Given the description of an element on the screen output the (x, y) to click on. 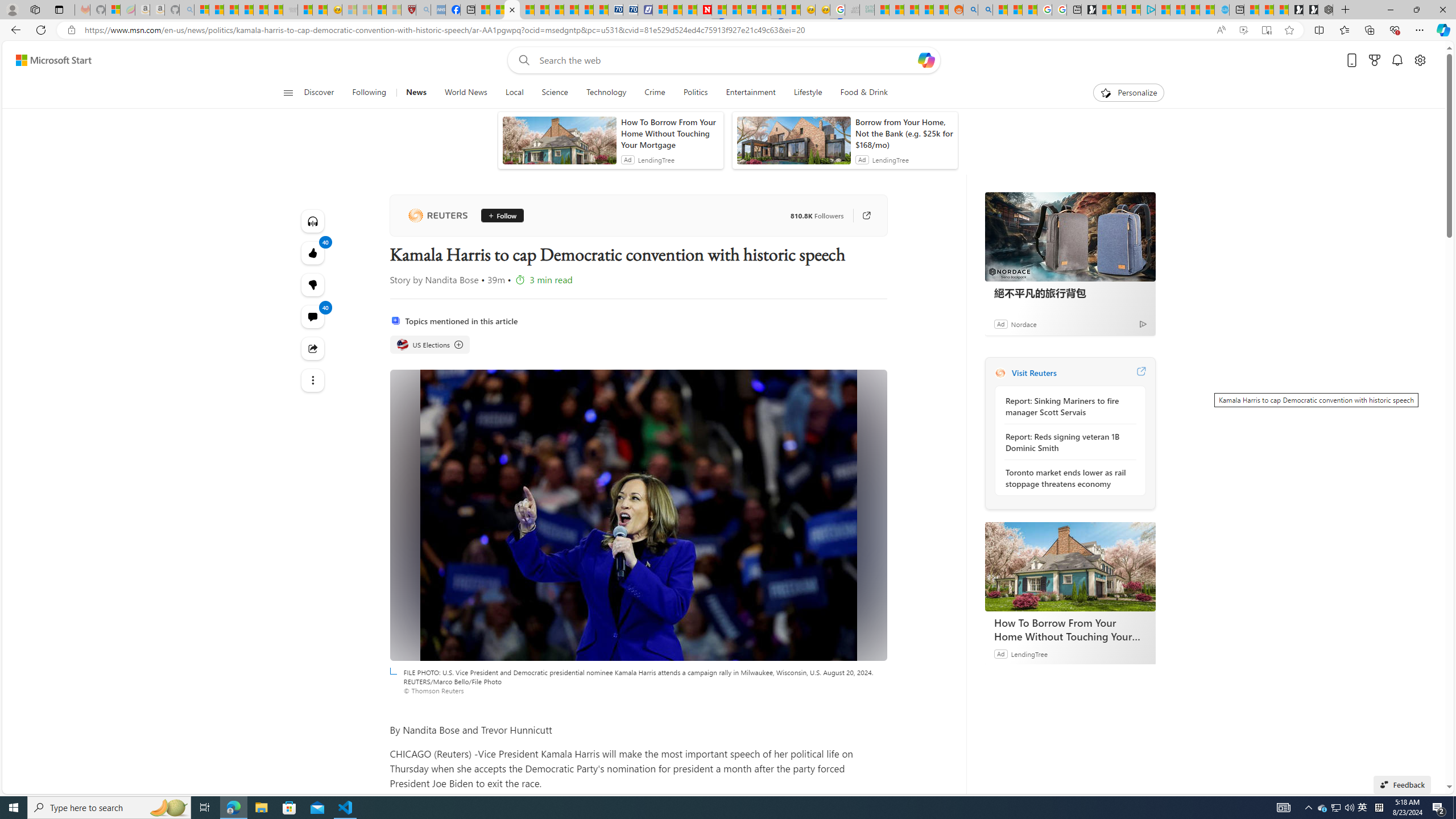
Class: at-item (312, 380)
40 Like (312, 252)
Science (554, 92)
Politics (695, 92)
Technology (605, 92)
How To Borrow From Your Home Without Touching Your Mortgage (1070, 566)
Lifestyle (807, 92)
